Given the description of an element on the screen output the (x, y) to click on. 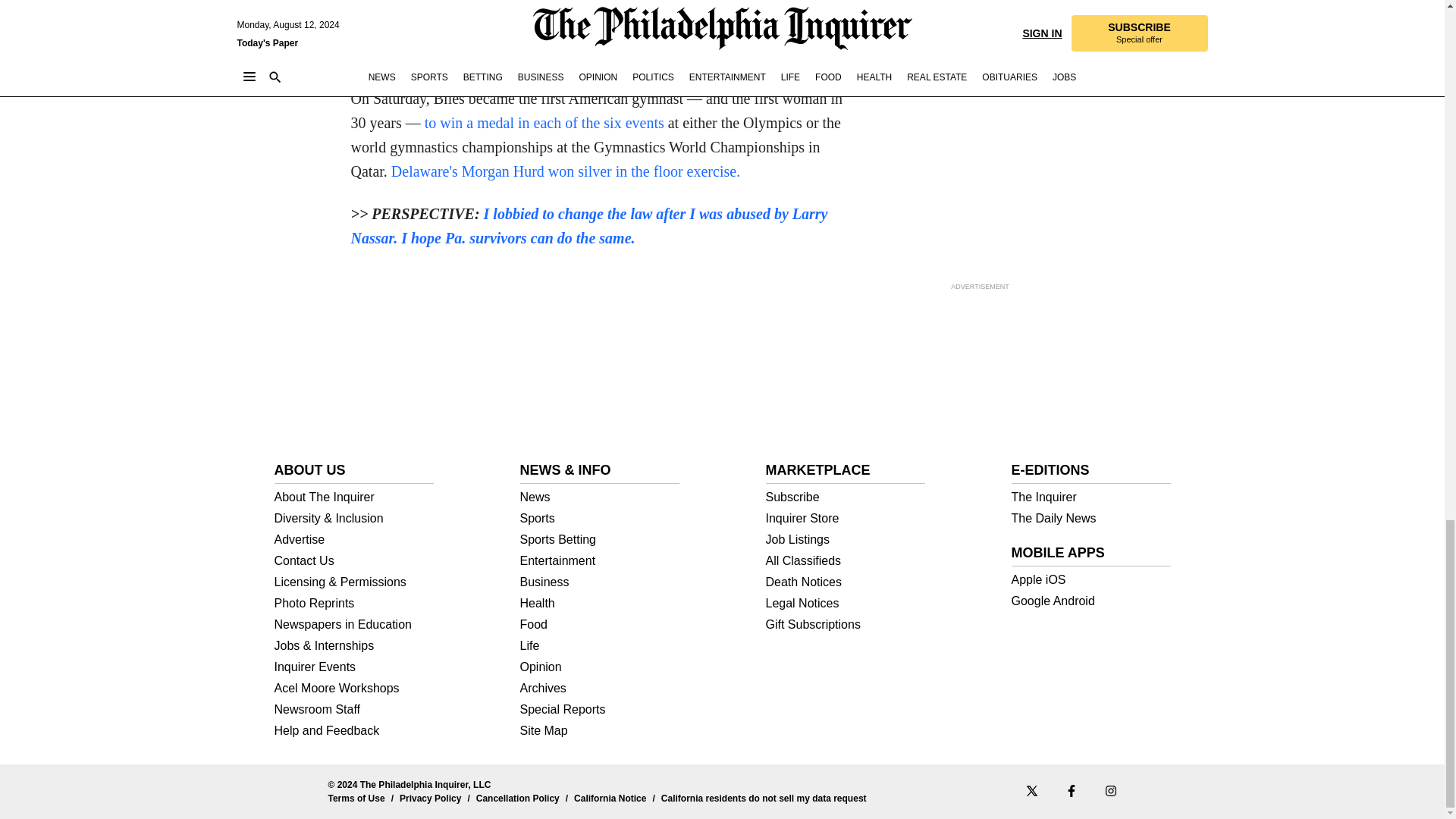
Instagram (1109, 790)
to win a medal in each of the six events (544, 122)
X (1030, 790)
Facebook (1070, 790)
